Given the description of an element on the screen output the (x, y) to click on. 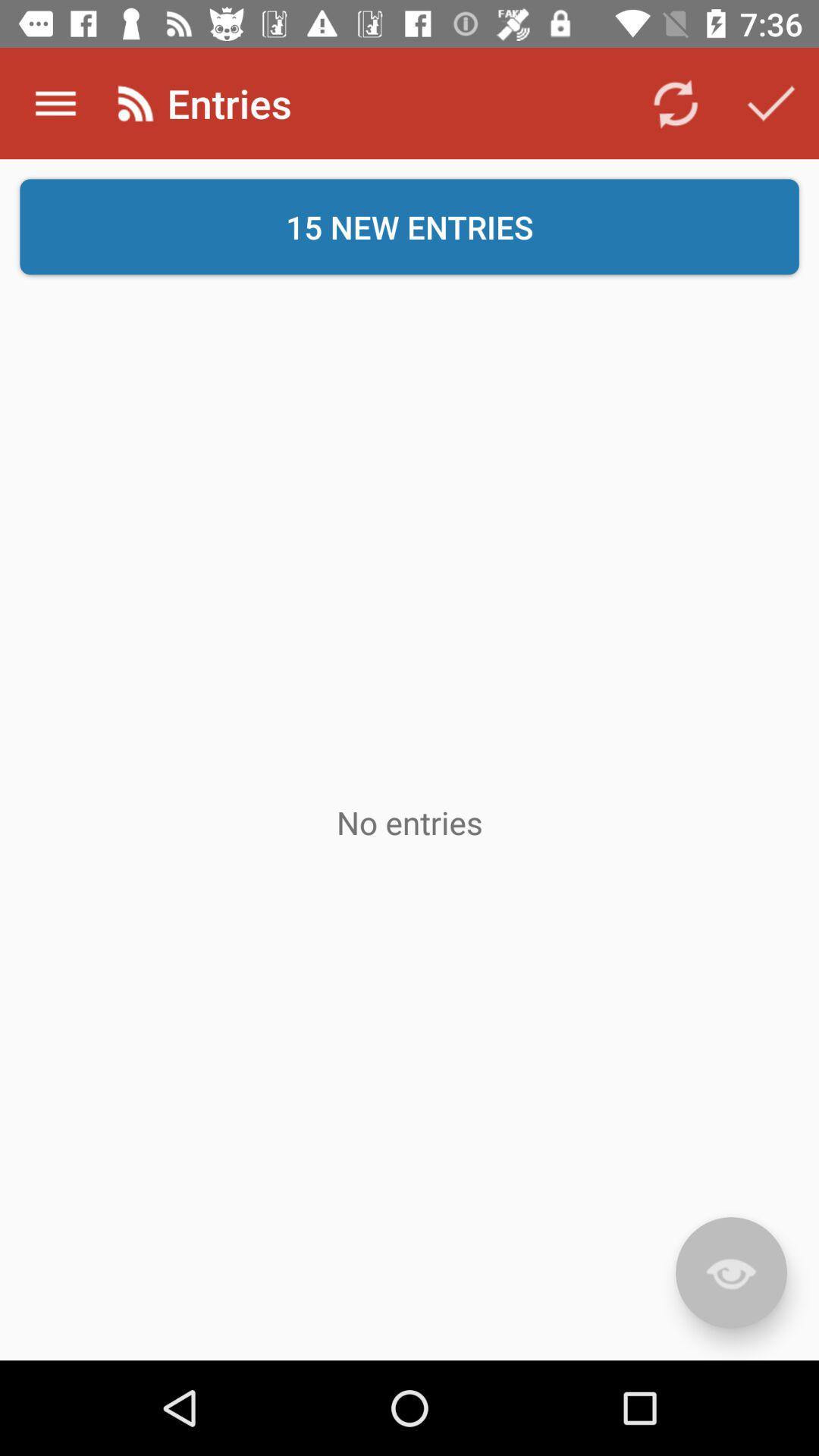
click item at the center (409, 822)
